Given the description of an element on the screen output the (x, y) to click on. 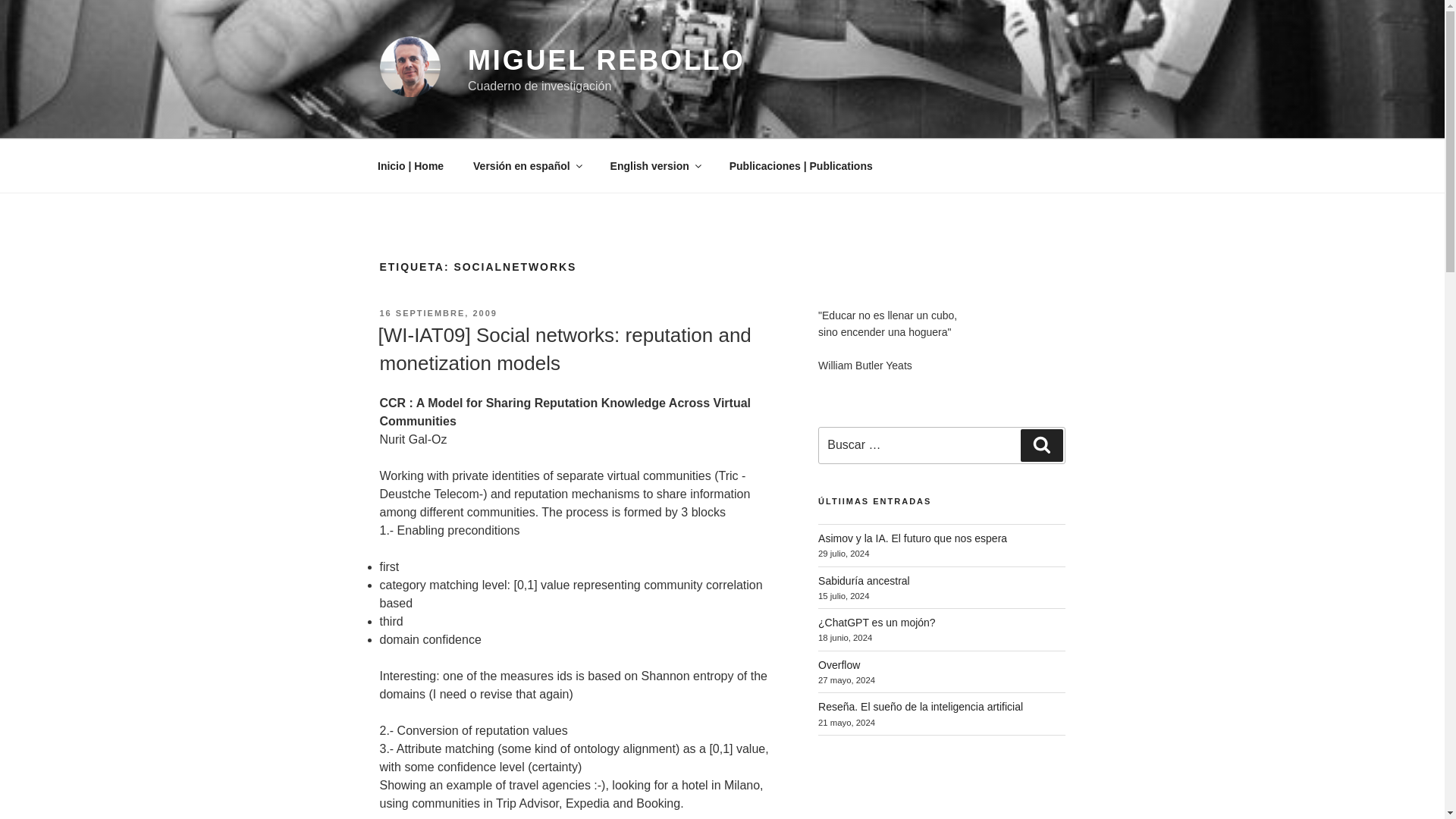
Overflow (839, 664)
Buscar (1041, 445)
English version (654, 165)
Asimov y la IA. El futuro que nos espera (912, 538)
MIGUEL REBOLLO (606, 60)
16 SEPTIEMBRE, 2009 (437, 312)
